Given the description of an element on the screen output the (x, y) to click on. 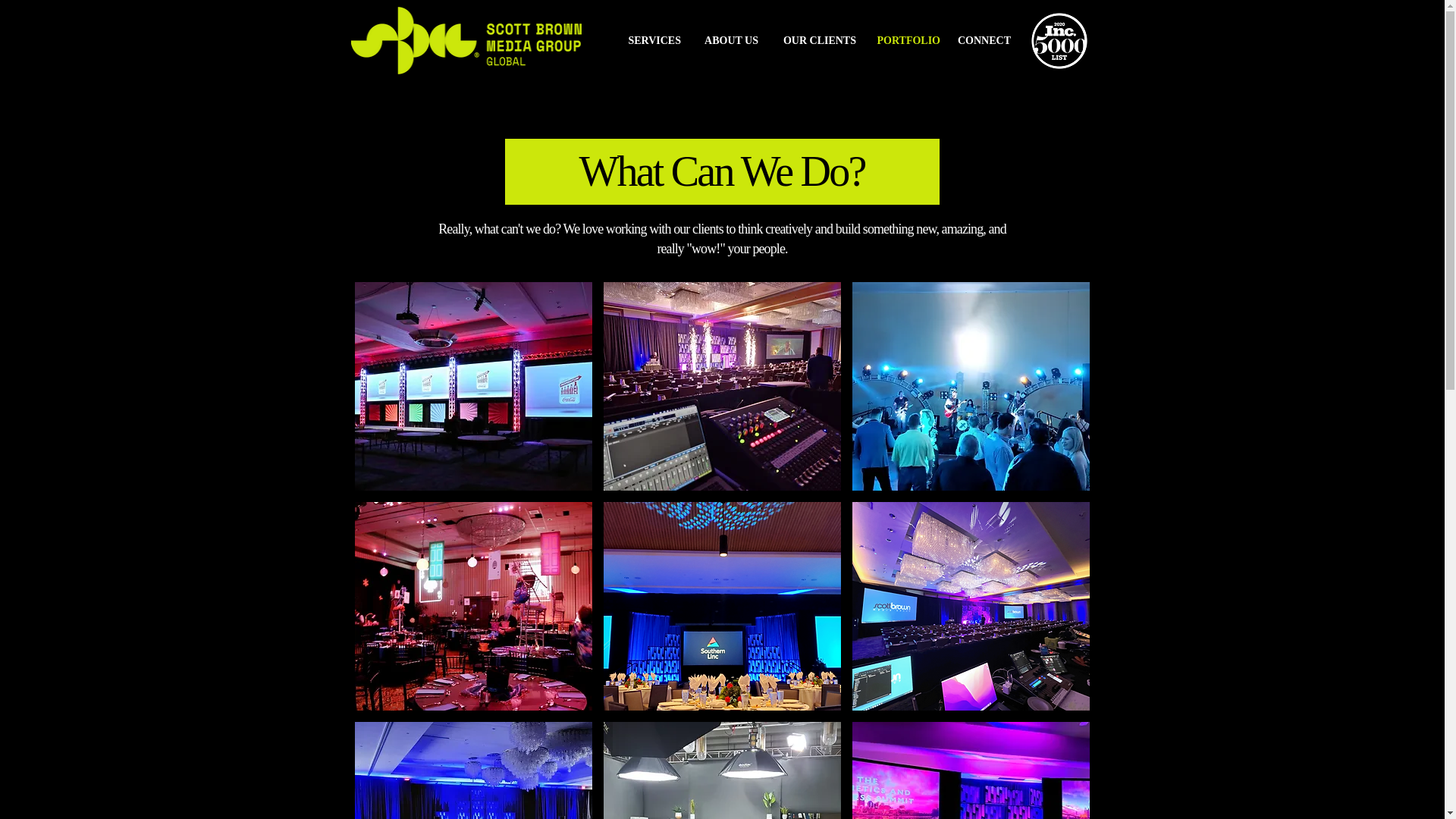
ABOUT US (731, 40)
CONNECT (987, 40)
OUR CLIENTS (818, 40)
SERVICES (653, 40)
PORTFOLIO (909, 40)
